Given the description of an element on the screen output the (x, y) to click on. 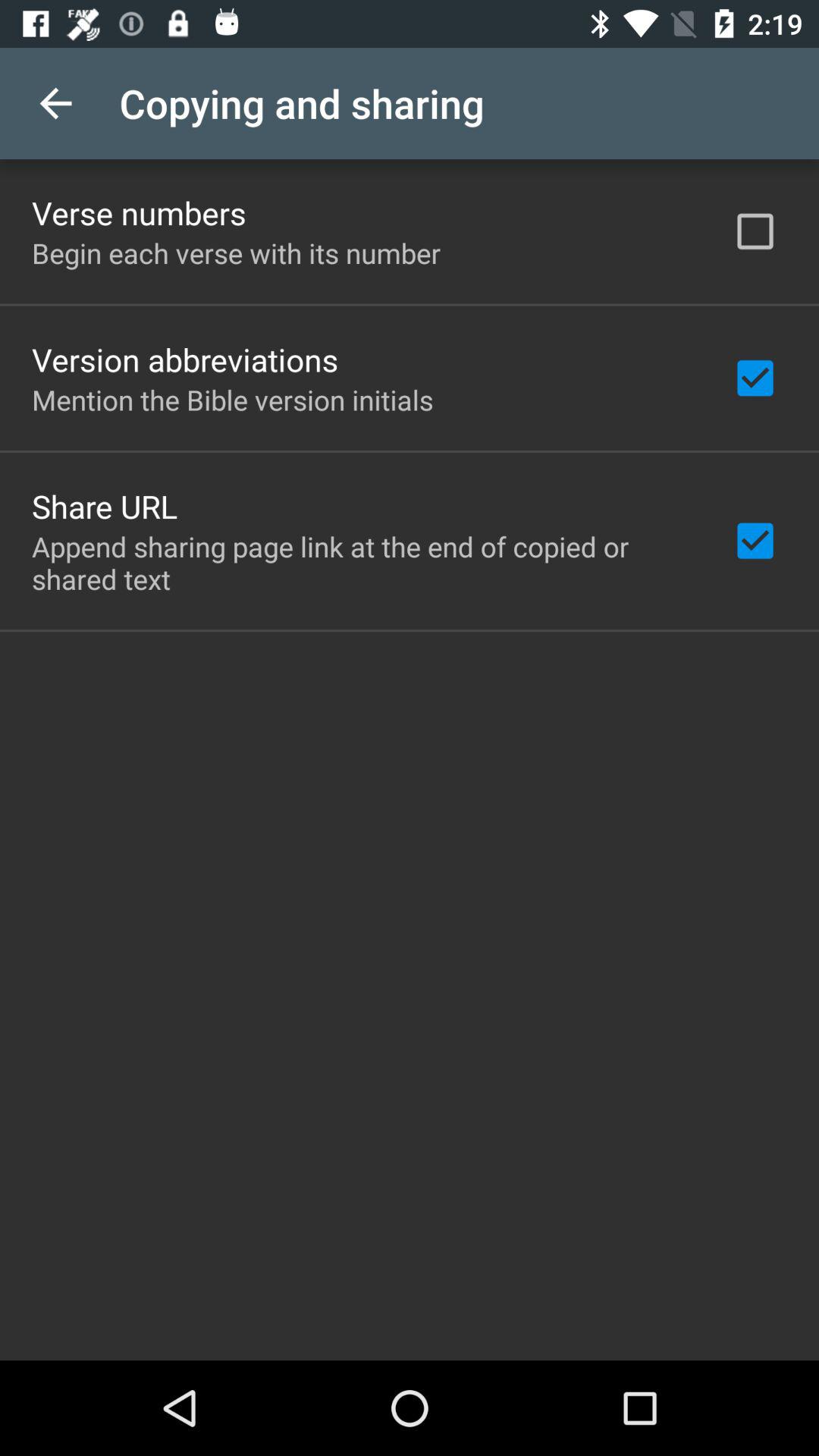
click share url icon (104, 505)
